Given the description of an element on the screen output the (x, y) to click on. 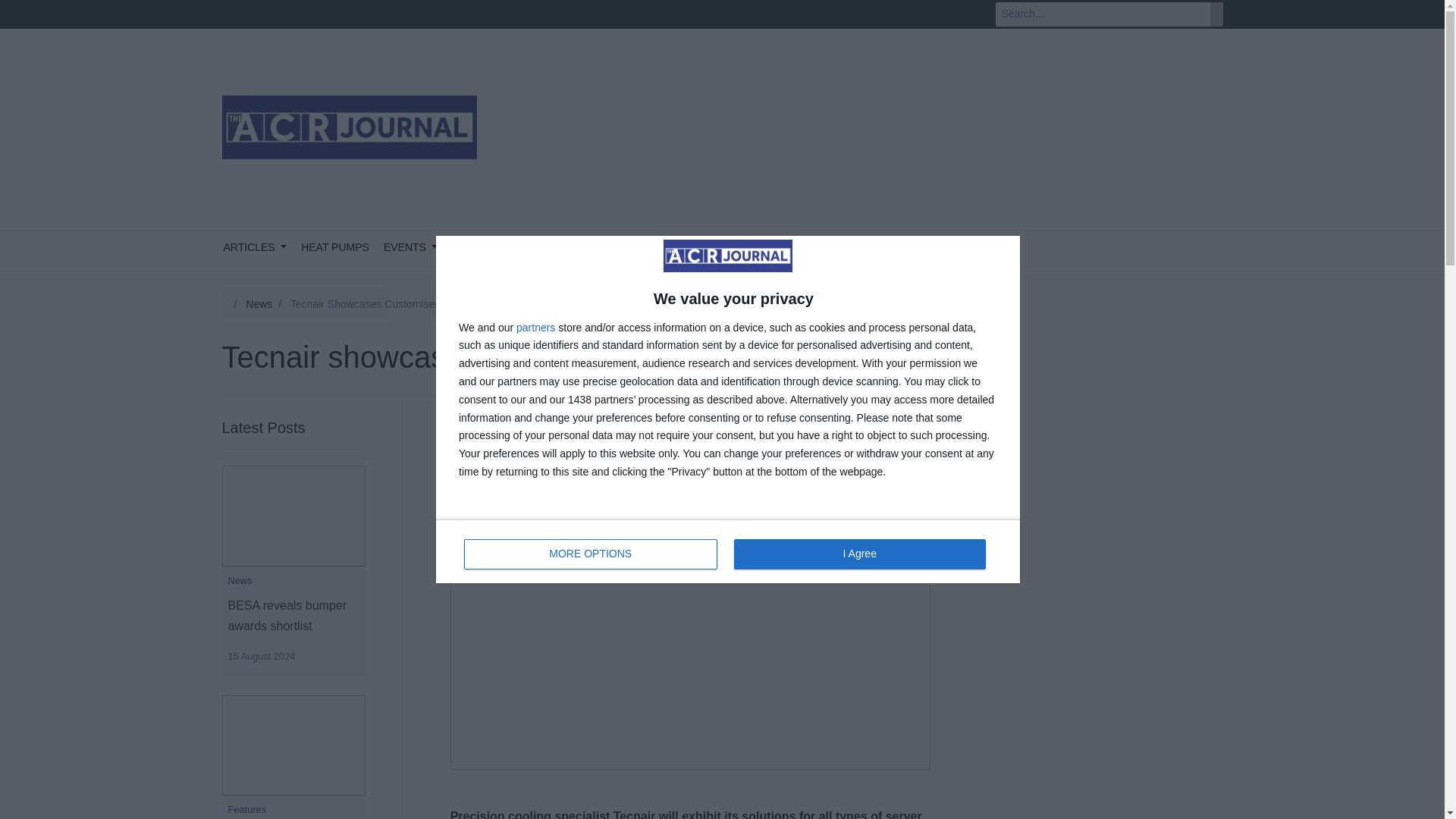
ARTICLES (254, 248)
EVENTS (727, 551)
partners (410, 248)
MORE OPTIONS (535, 328)
SUBSCRIBE (590, 553)
LATEST ISSUE (556, 248)
HEAT PUMPS (643, 248)
ADVERTISE (335, 248)
I Agree (481, 248)
